Given the description of an element on the screen output the (x, y) to click on. 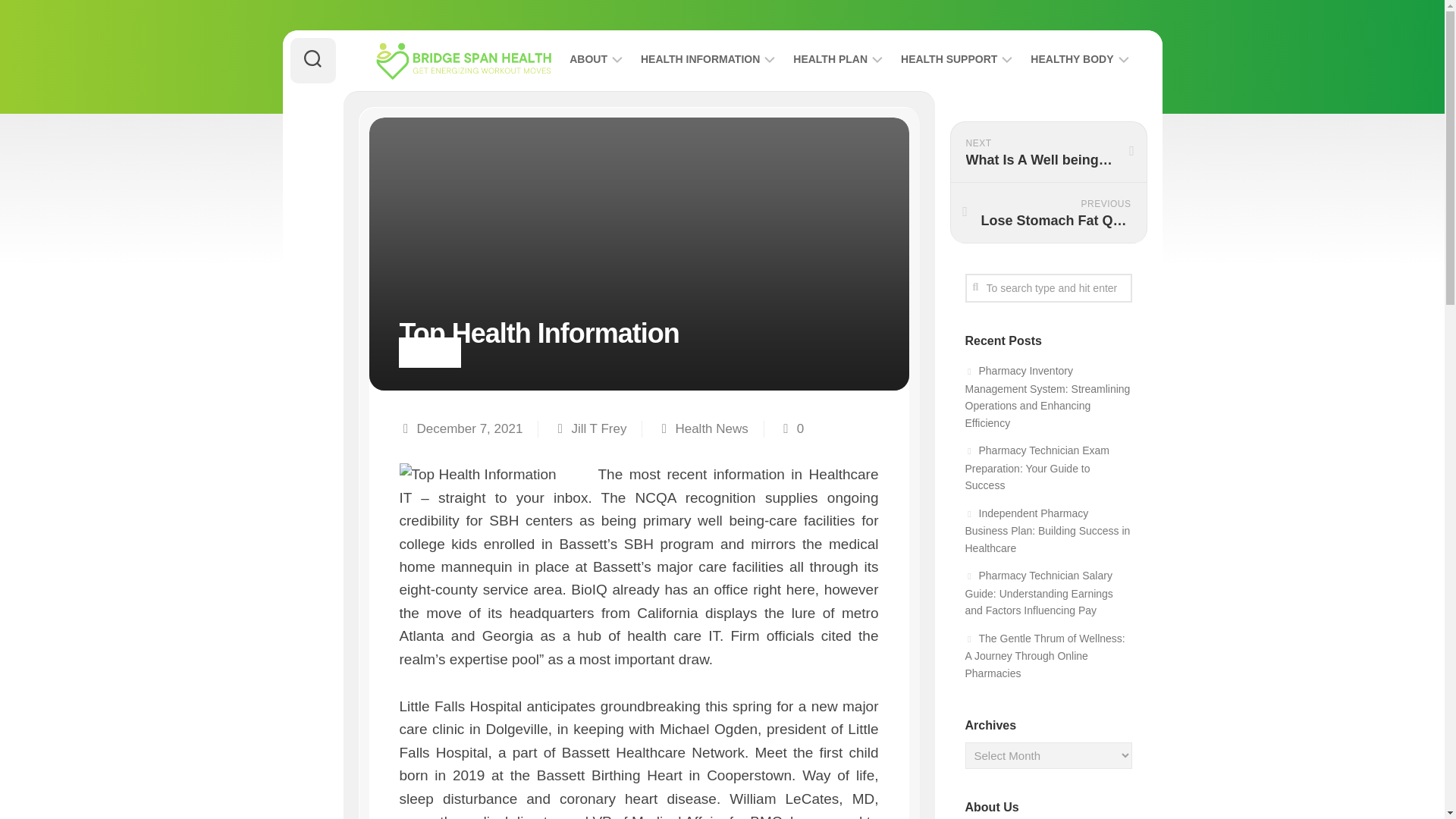
Posts by Jill T Frey (598, 428)
ABOUT (588, 58)
Jill T Frey (598, 428)
To search type and hit enter (1047, 287)
HEALTHY BODY (1071, 58)
To search type and hit enter (1047, 287)
HEALTH SUPPORT (949, 58)
Top Health Information (493, 474)
Health News (711, 428)
HEALTH INFORMATION (700, 58)
0 (799, 428)
HEALTH PLAN (830, 58)
